Given the description of an element on the screen output the (x, y) to click on. 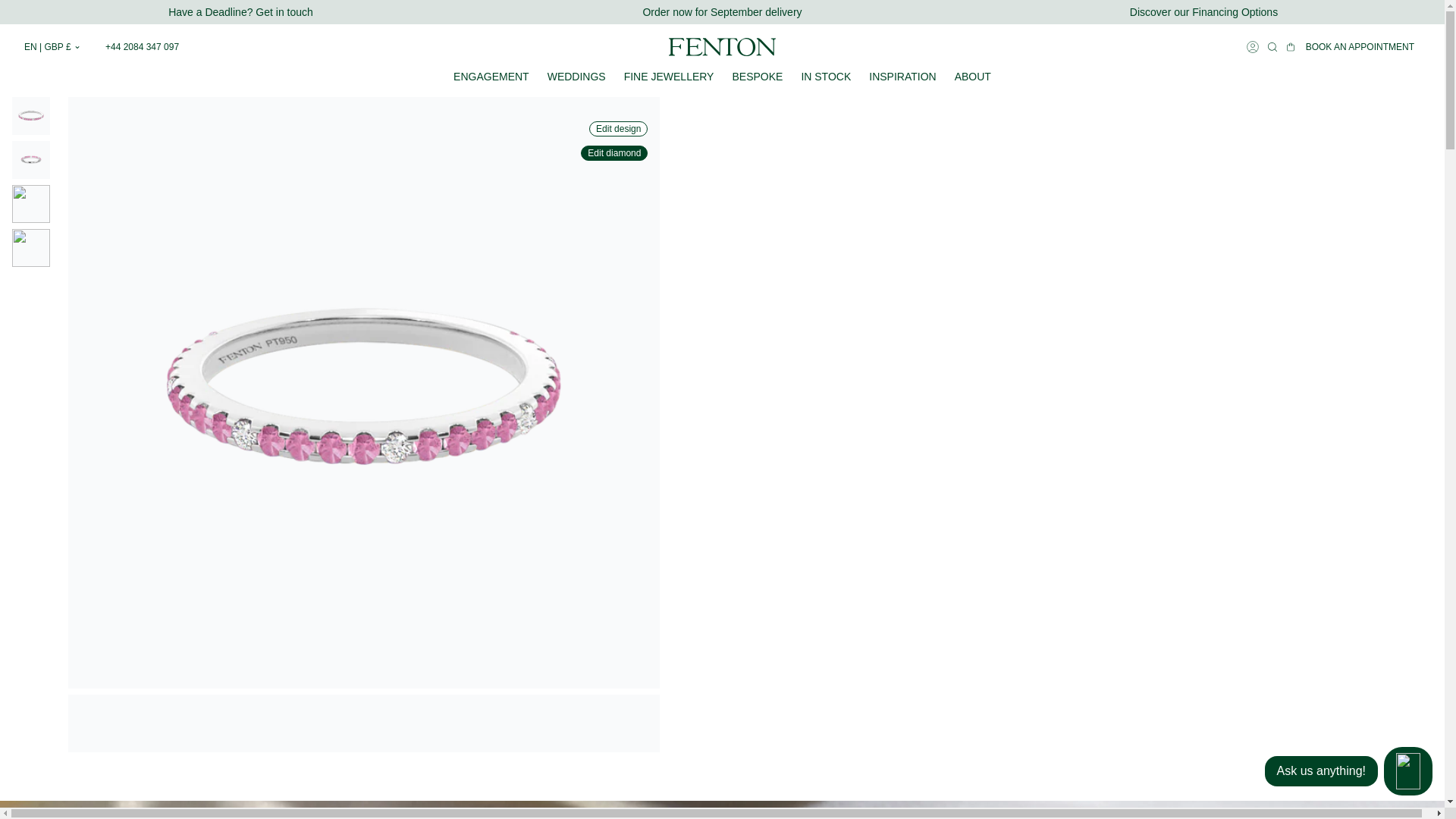
Have a Deadline? Get in touch (240, 12)
Order now for September delivery (1203, 12)
Fenton (721, 12)
